Given the description of an element on the screen output the (x, y) to click on. 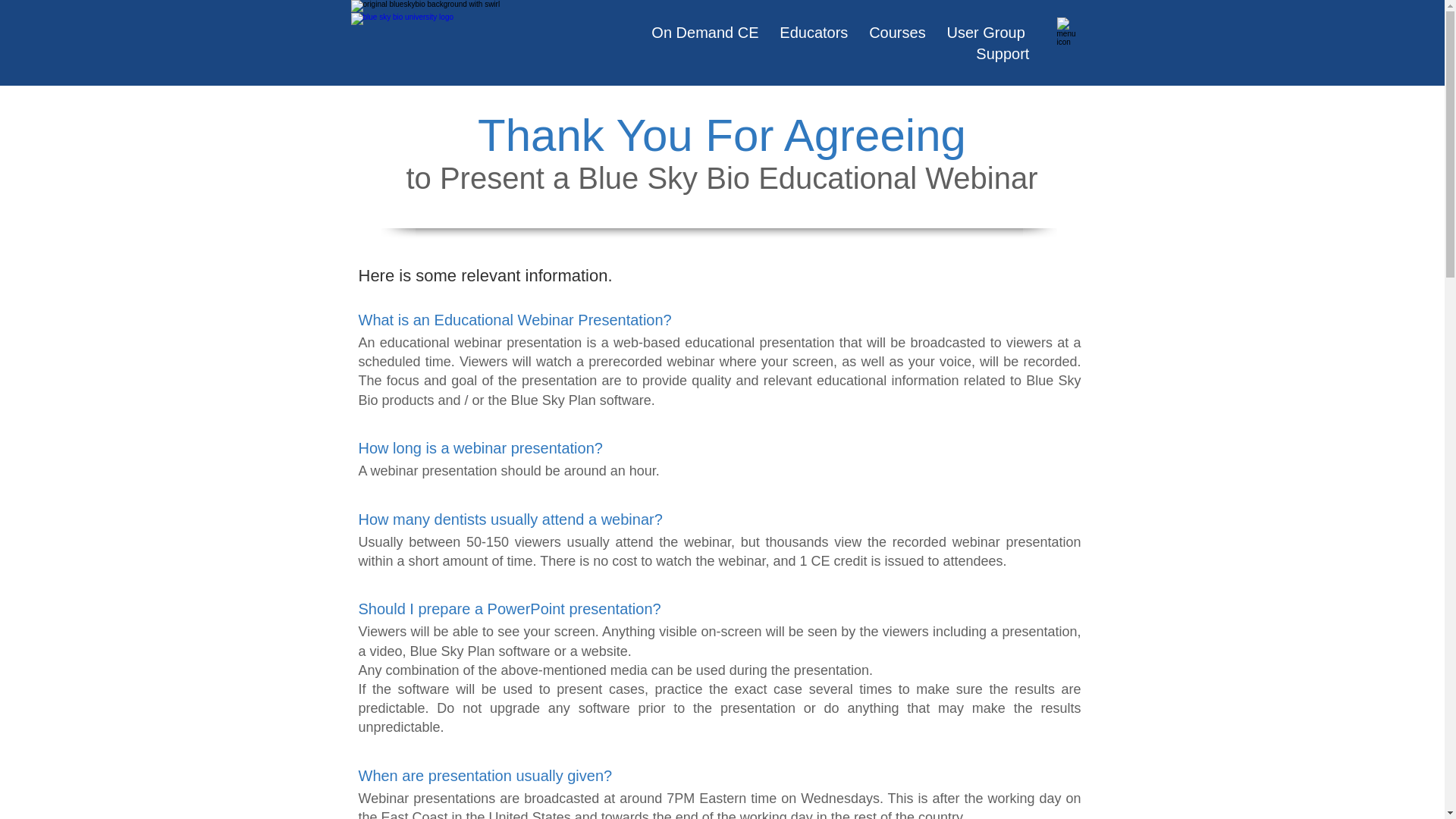
User Group (985, 32)
On Demand CE   (708, 32)
Educators (812, 32)
Courses (896, 32)
Support (1002, 53)
